Given the description of an element on the screen output the (x, y) to click on. 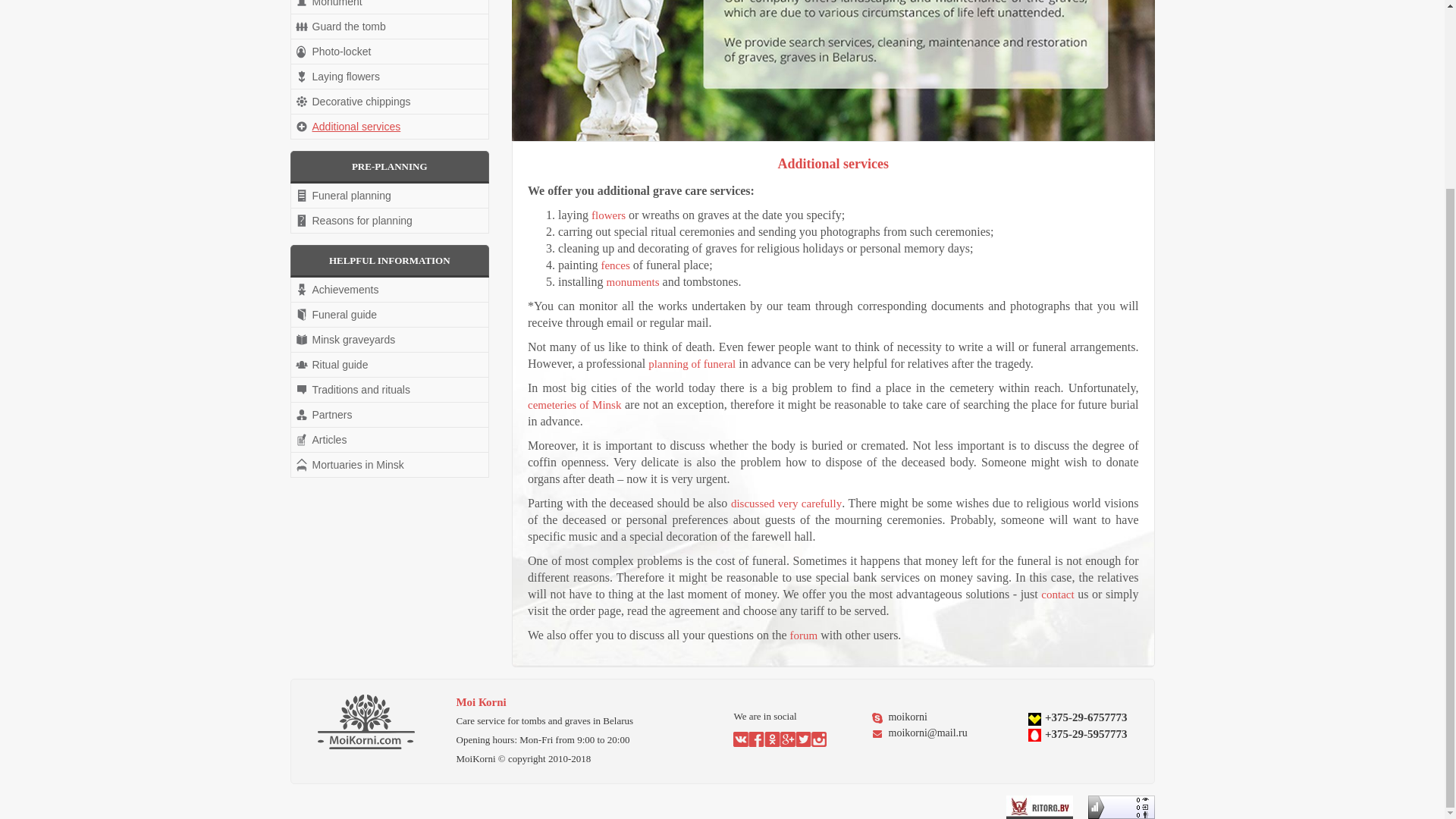
Articles (390, 439)
Achievements (390, 289)
Partners (390, 414)
flowers (608, 215)
Traditions and rituals (390, 389)
fences (613, 265)
Ritual guide (390, 364)
Guard the tomb (390, 26)
planning of funeral (691, 363)
Photo-locket (390, 51)
Mortuaries in Minsk (390, 464)
Funeral planning (390, 195)
Funeral guide (390, 314)
cemeteries of Minsk (574, 404)
Additional services (390, 126)
